Given the description of an element on the screen output the (x, y) to click on. 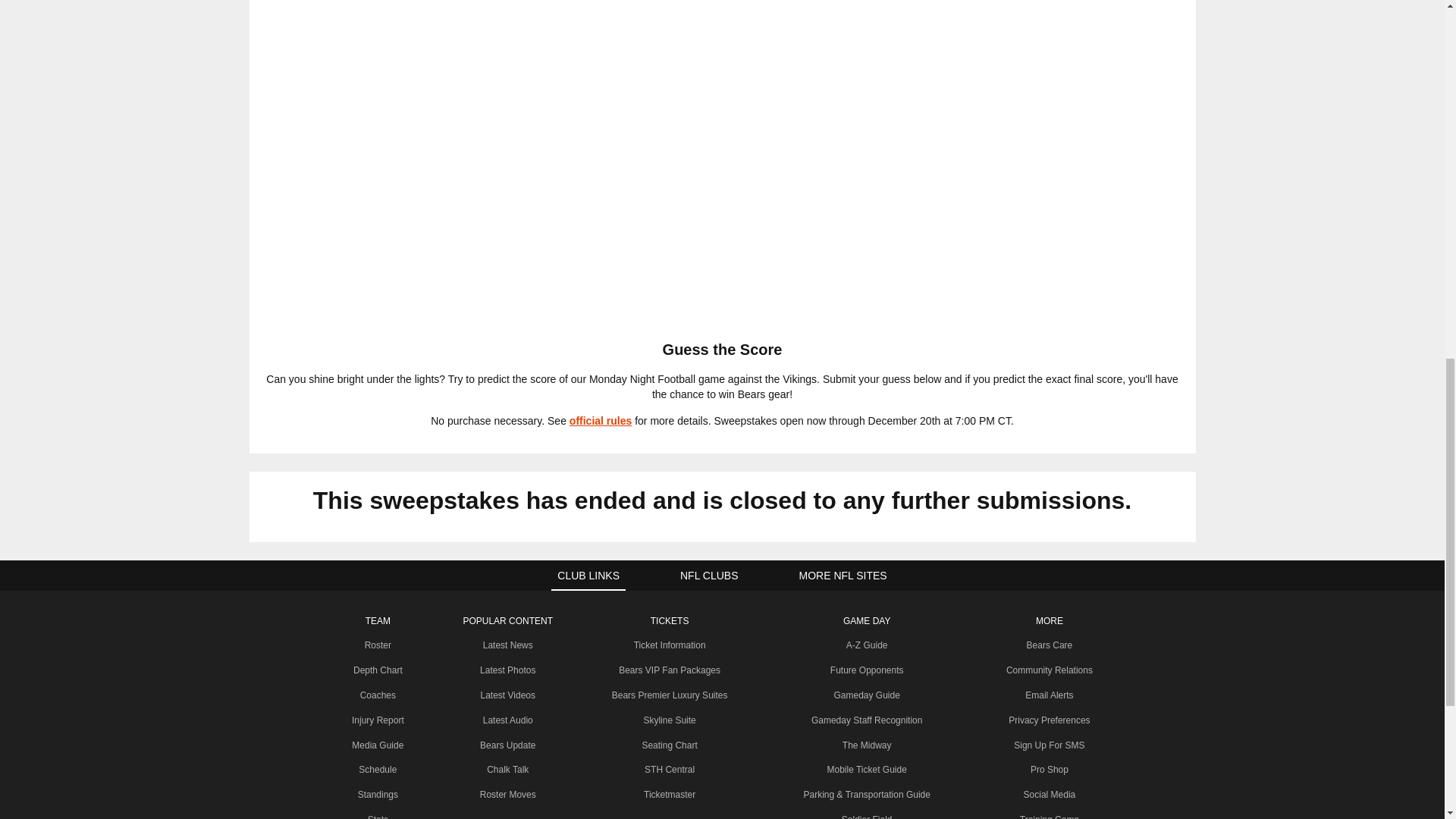
Depth Chart (378, 670)
Standings (377, 794)
Coaches (377, 695)
Schedule (377, 769)
official rules (600, 420)
Injury Report (378, 719)
Media Guide (377, 745)
Stats (378, 816)
Latest News (507, 644)
Latest Audio (507, 719)
CLUB LINKS (588, 575)
Latest Videos (507, 695)
Roster (378, 644)
Latest Photos (507, 670)
